Given the description of an element on the screen output the (x, y) to click on. 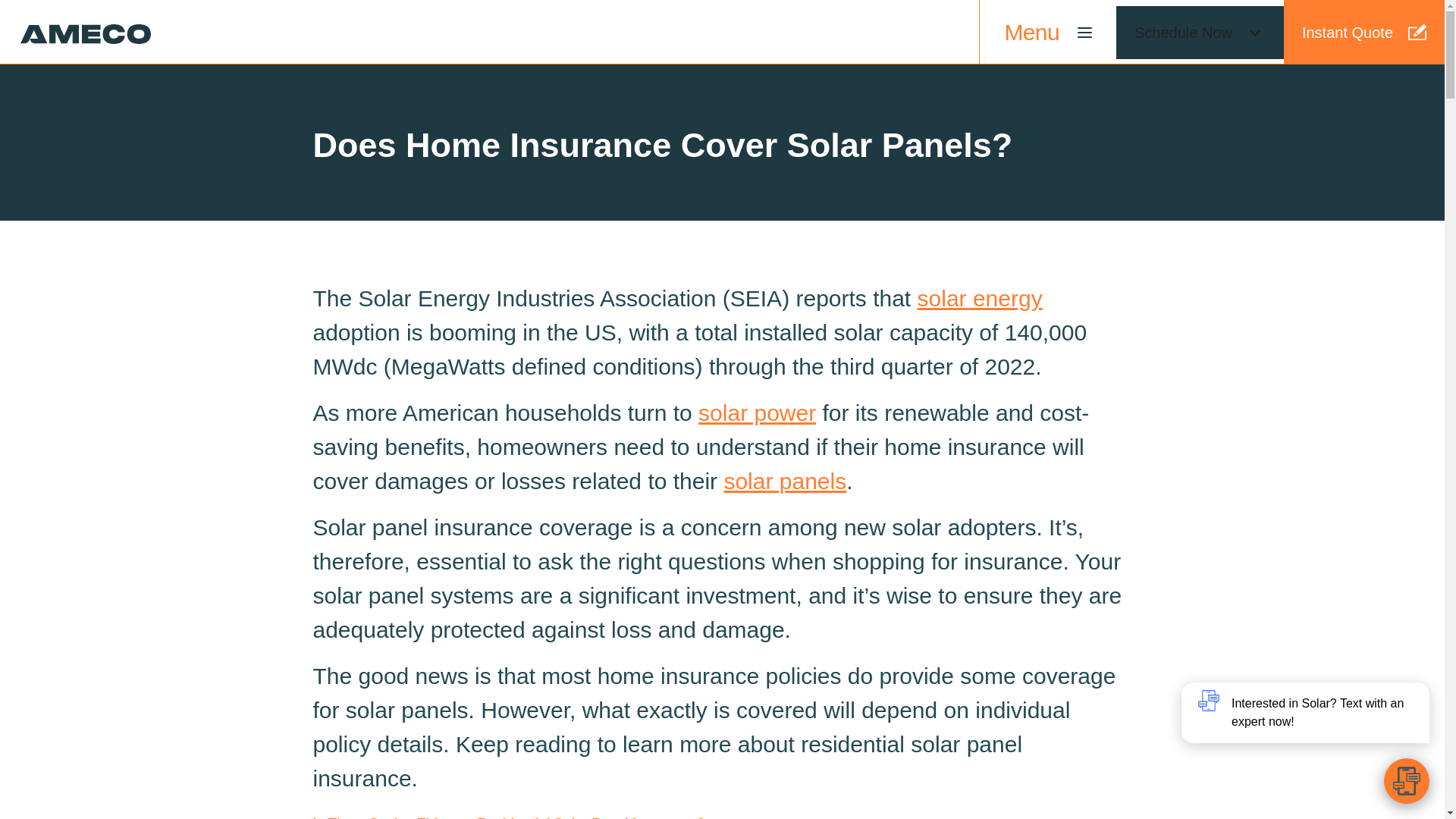
solar power (756, 412)
Menu (1046, 32)
solar energy (979, 298)
solar panels (784, 480)
